Given the description of an element on the screen output the (x, y) to click on. 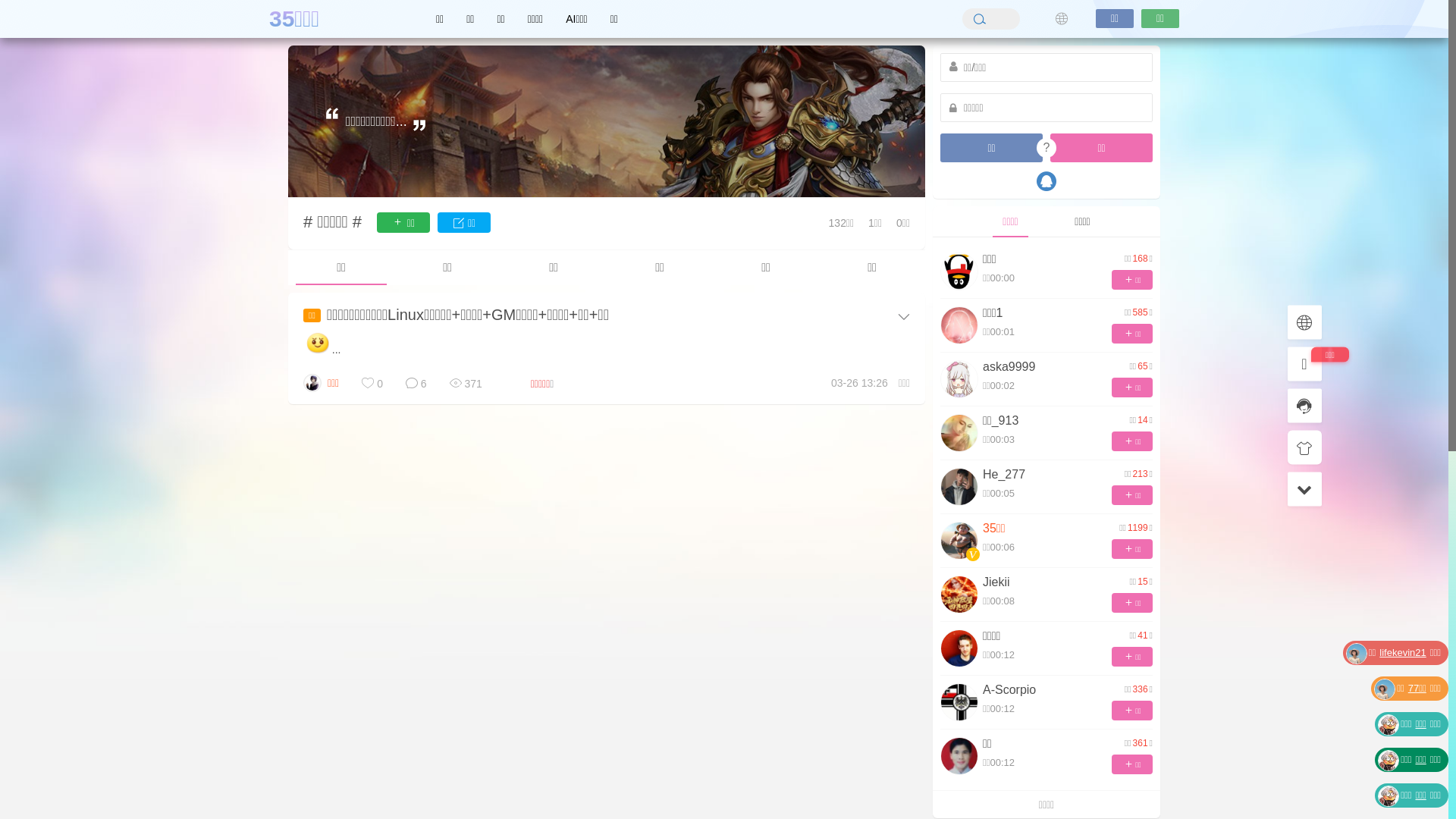
0 Element type: text (1304, 405)
0 Element type: text (1304, 447)
He_277 Element type: text (1003, 473)
0 Element type: text (371, 383)
  ... Element type: text (321, 349)
6 Element type: text (415, 383)
0 Element type: text (1304, 364)
A-Scorpio Element type: text (1008, 689)
aska9999 Element type: text (1008, 366)
0 Element type: text (1224, 307)
0 Element type: text (1224, 332)
6 Element type: text (415, 383)
371 Element type: text (465, 383)
Jiekii Element type: text (996, 581)
? Element type: text (1046, 147)
